Given the description of an element on the screen output the (x, y) to click on. 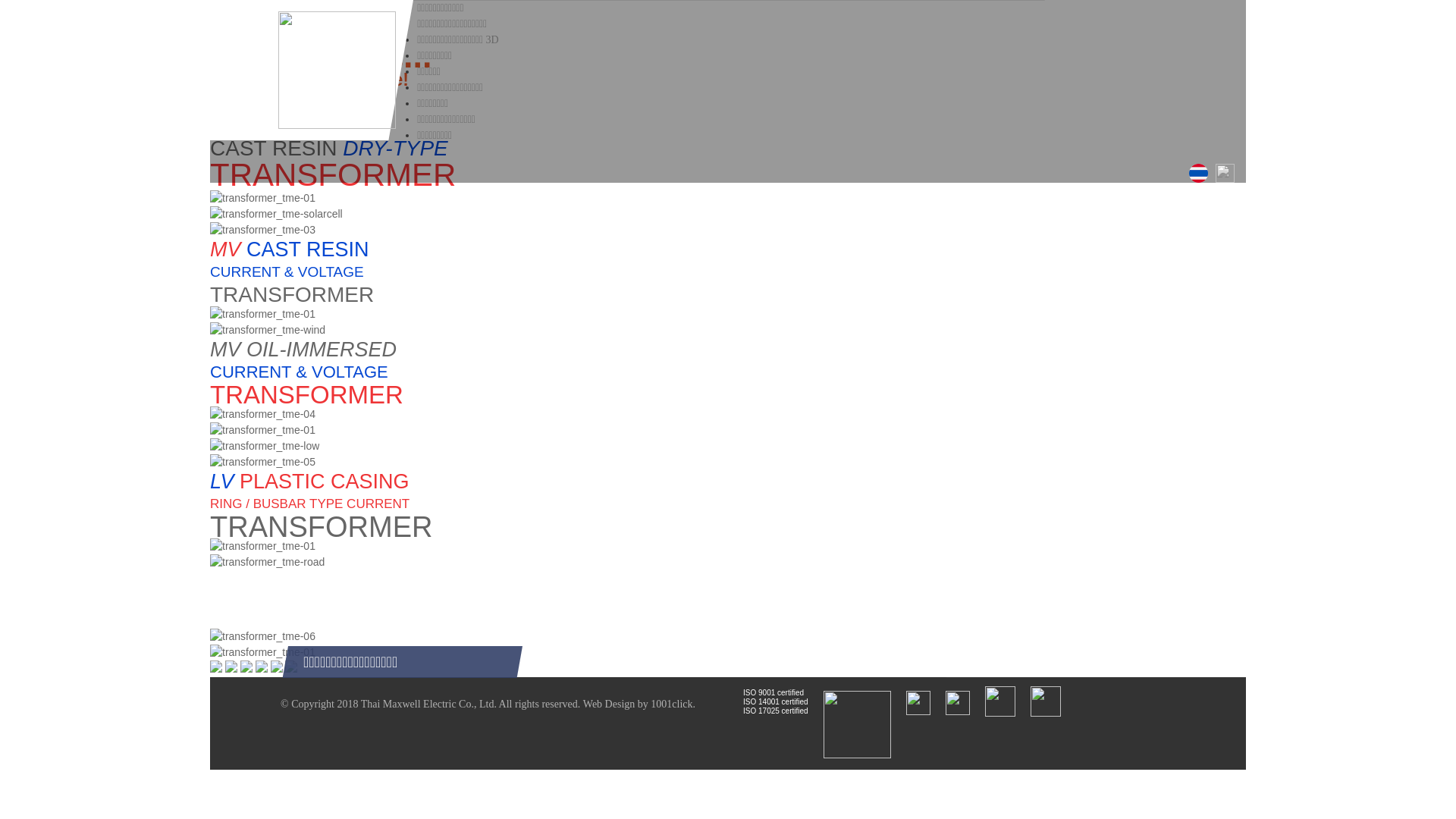
SF6 GAS
LOAD BREAK SWITCH Element type: text (727, 607)
MV OIL-IMMERSED
CURRENT & VOLTAGE
TRANSFORMER Element type: text (727, 380)
MV CAST RESIN
CURRENT & VOLTAGE
TRANSFORMER Element type: text (727, 264)
LV PLASTIC CASING
RING / BUSBAR TYPE CURRENT
TRANSFORMER Element type: text (727, 496)
CAST RESIN DRY-TYPE
TRANSFORMER Element type: text (727, 155)
Web Design by 1001click. Element type: text (639, 704)
3D transformers...
transforming the future! Element type: text (727, 52)
